Given the description of an element on the screen output the (x, y) to click on. 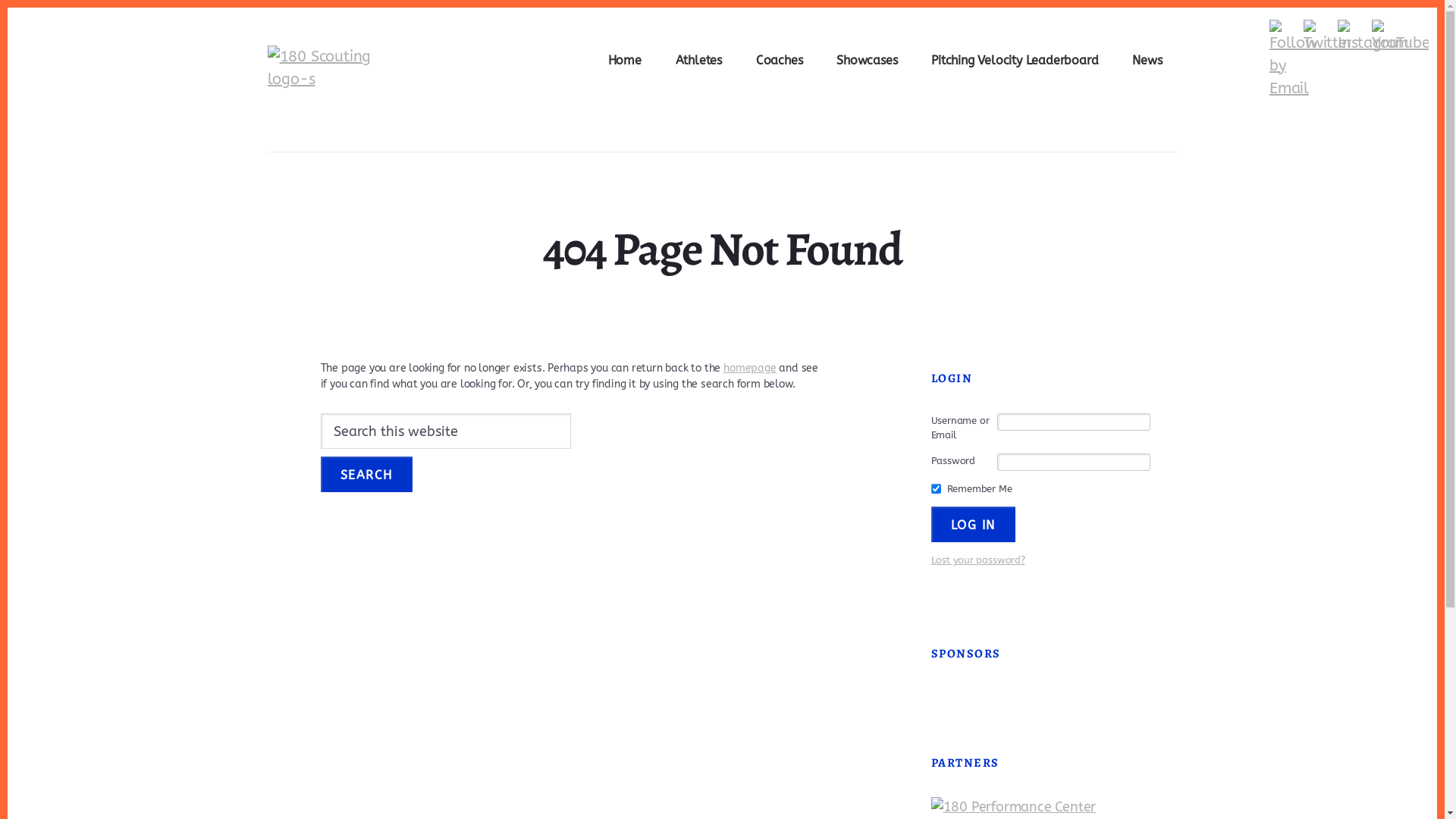
Coaches Element type: text (779, 61)
Skip to primary sidebar Element type: text (7, 7)
homepage Element type: text (749, 367)
Pitching Velocity Leaderboard Element type: text (1014, 61)
Search Element type: text (365, 474)
News Element type: text (1146, 61)
Instagram Element type: hover (1372, 36)
Athletes Element type: text (698, 61)
Lost your password? Element type: text (978, 559)
Log In Element type: text (973, 524)
Home Element type: text (624, 61)
YouTube Element type: hover (1399, 36)
Follow by Email Element type: hover (1292, 59)
Showcases Element type: text (866, 61)
Twitter Element type: hover (1327, 36)
